Given the description of an element on the screen output the (x, y) to click on. 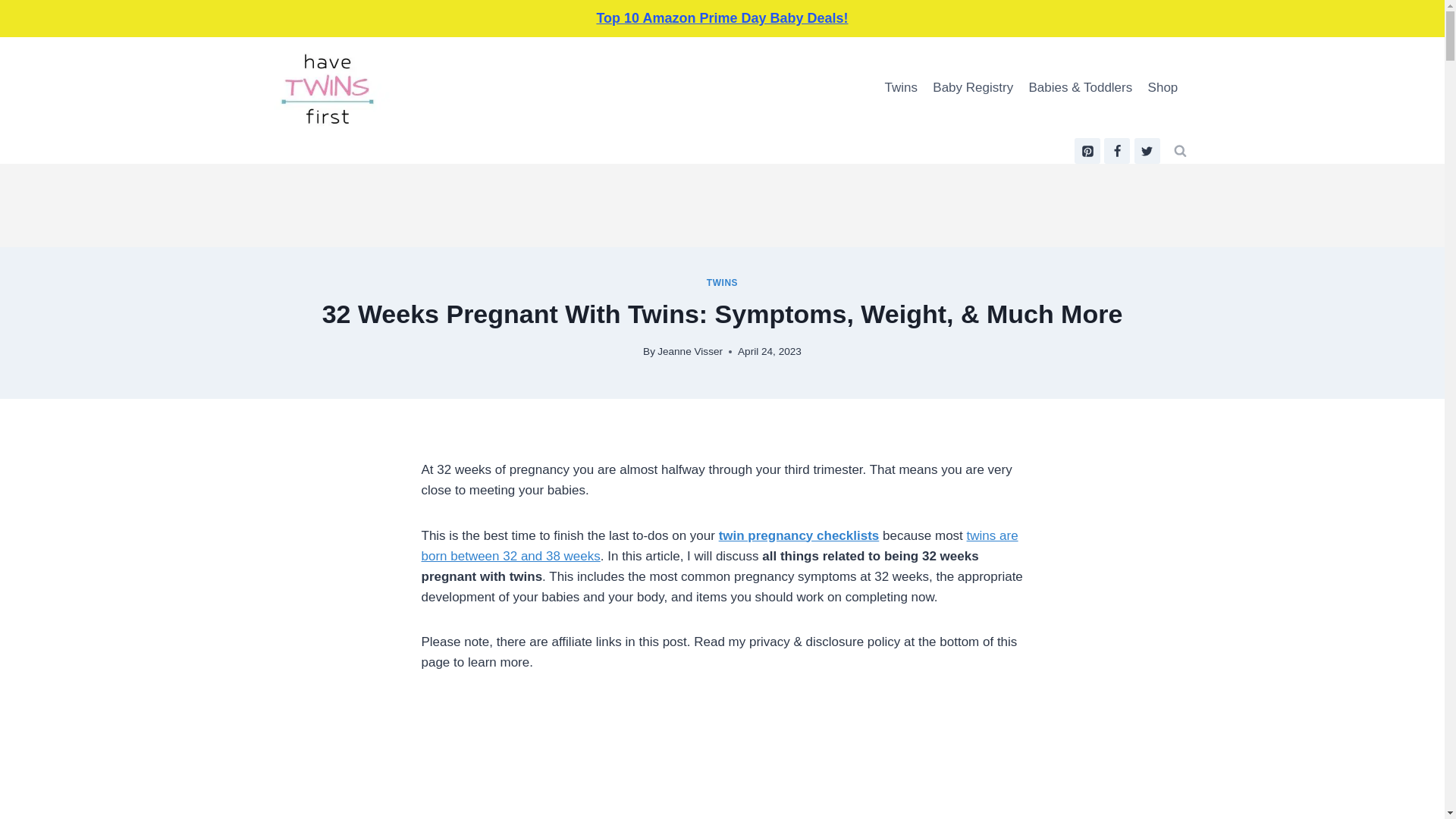
Twins (1087, 150)
twin pregnancy checklists (722, 282)
twins are born between 32 and 38 weeks (799, 534)
Baby Registry (719, 544)
TWINS (972, 87)
Jeanne Visser (722, 282)
twin pregnancy checklists (690, 351)
twins are born between 32 and 38 weeks (1116, 150)
Twins (1147, 150)
Shop (799, 534)
Top 10 Amazon Prime Day Baby Deals! (719, 544)
Baby Registry (900, 87)
